Given the description of an element on the screen output the (x, y) to click on. 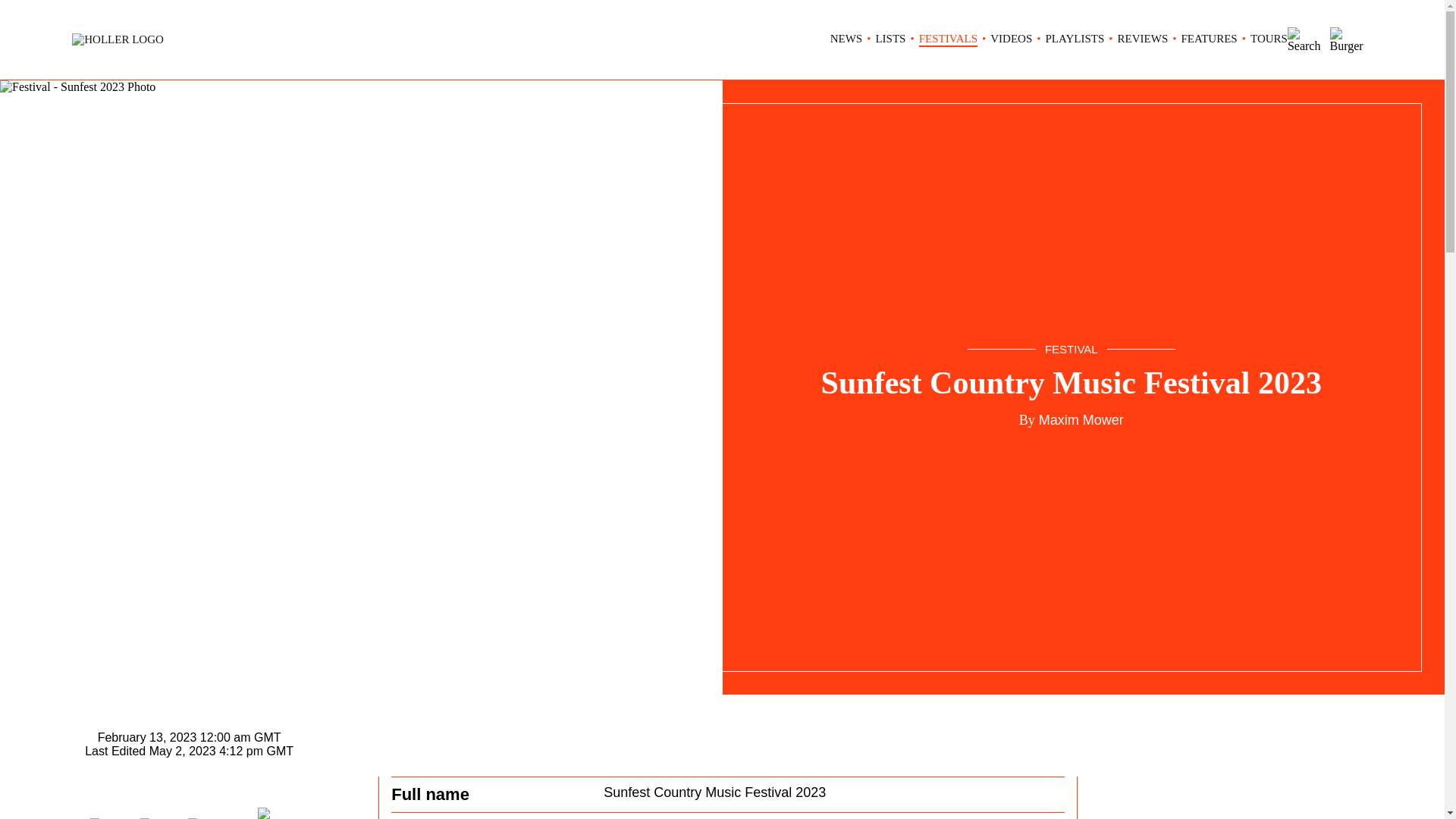
REVIEWS (1143, 38)
LISTS (890, 38)
TOURS (1268, 38)
PLAYLISTS (1075, 38)
Maxim Mower (1079, 419)
NEWS (846, 38)
FEATURES (1208, 38)
VIDEOS (1011, 38)
FESTIVALS (947, 39)
